Given the description of an element on the screen output the (x, y) to click on. 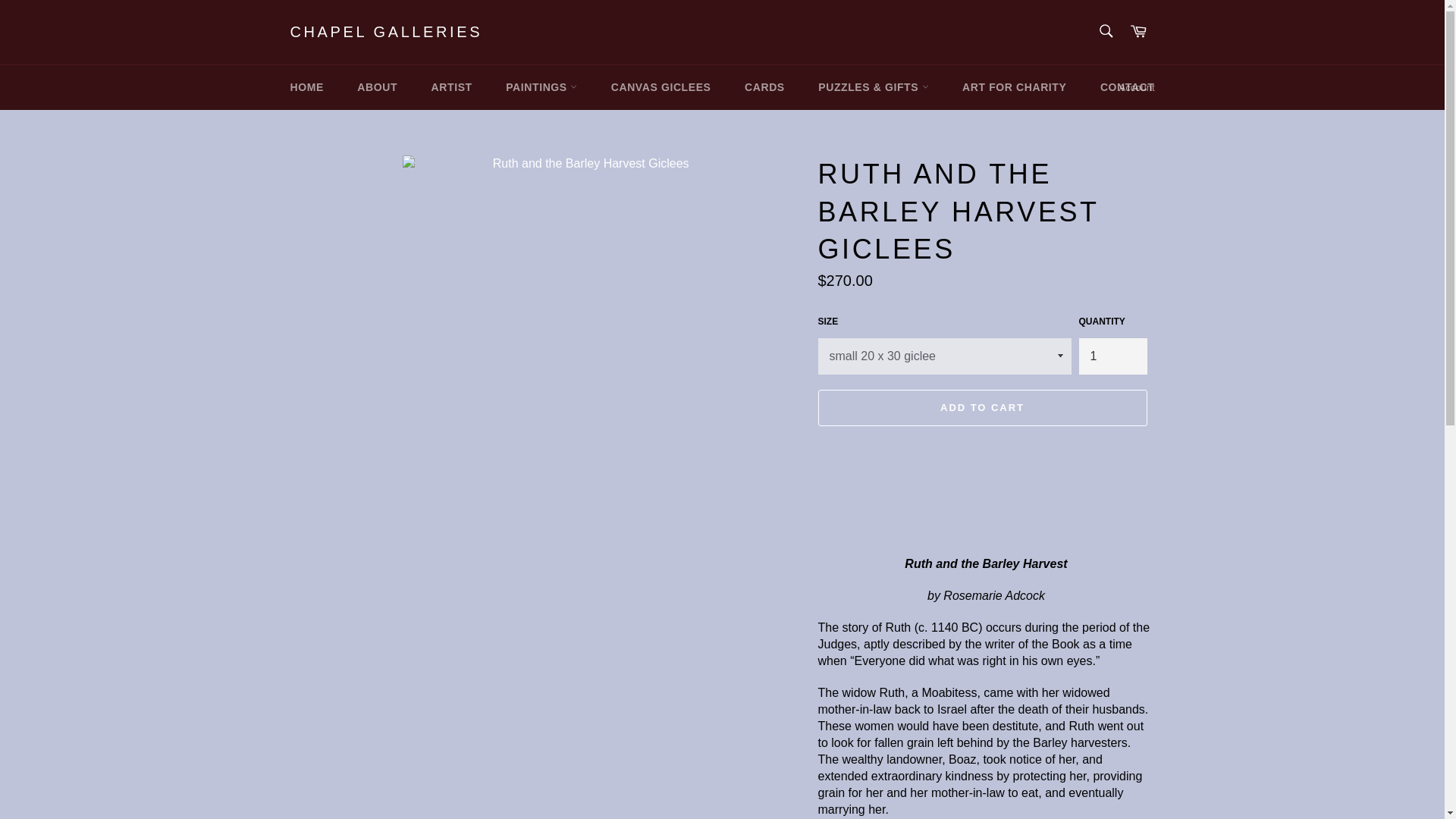
PAINTINGS (541, 87)
HOME (306, 87)
Search (1104, 30)
CONTACT (1127, 87)
CARDS (764, 87)
ABOUT (377, 87)
Cart (1138, 32)
ARTIST (451, 87)
CANVAS GICLEES (660, 87)
ART FOR CHARITY (1014, 87)
Account (1136, 87)
CHAPEL GALLERIES (385, 32)
1 (1112, 356)
